Given the description of an element on the screen output the (x, y) to click on. 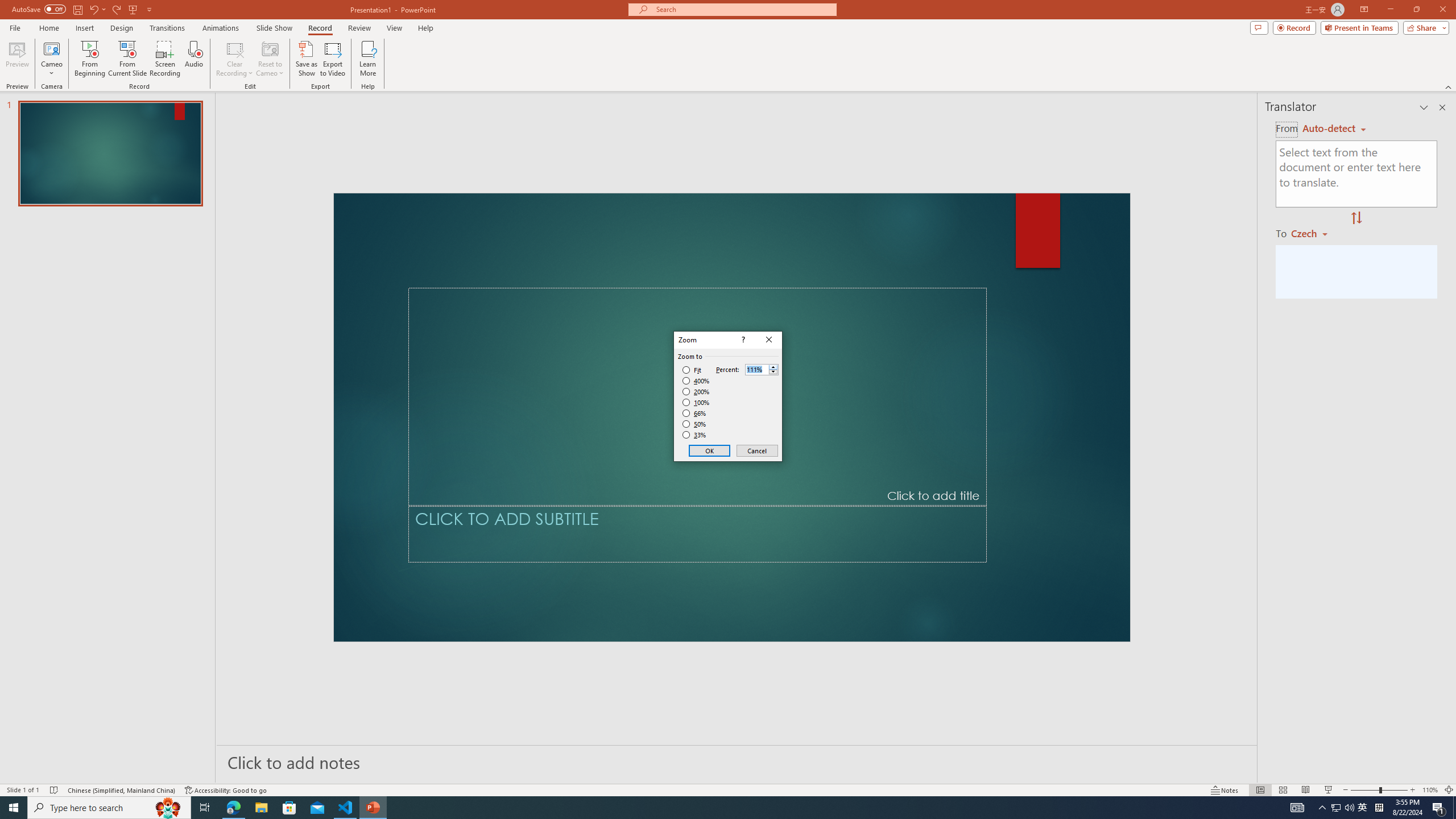
New Tab (517, 47)
Editing (1355, 48)
Draw (235, 47)
File Tab (25, 47)
